Given the description of an element on the screen output the (x, y) to click on. 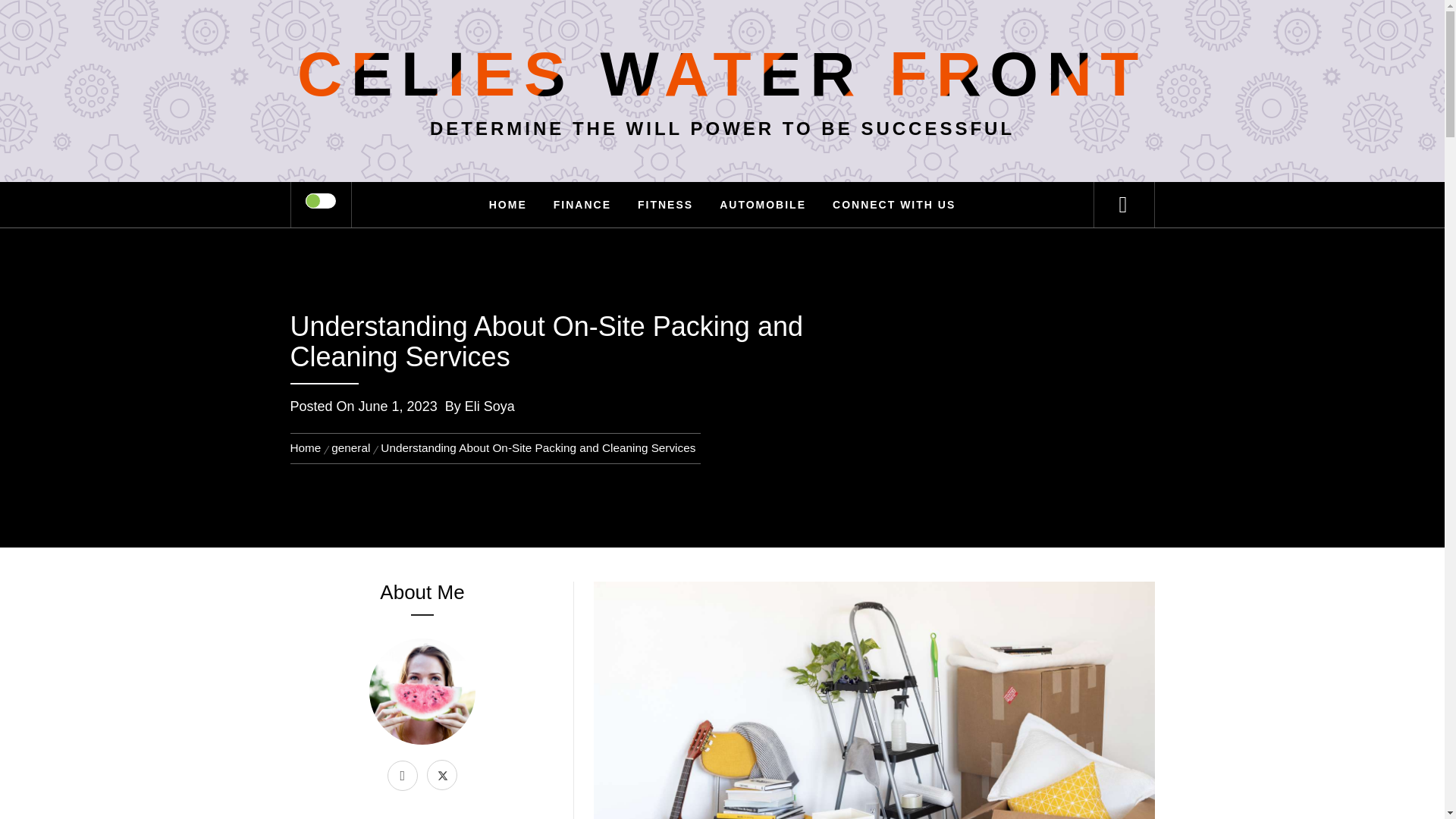
AUTOMOBILE (761, 204)
general (350, 447)
CELIES WATER FRONT (722, 73)
Search (797, 33)
Home (307, 447)
June 1, 2023 (398, 406)
FITNESS (665, 204)
HOME (507, 204)
Eli Soya (489, 406)
CONNECT WITH US (893, 204)
FINANCE (582, 204)
